Given the description of an element on the screen output the (x, y) to click on. 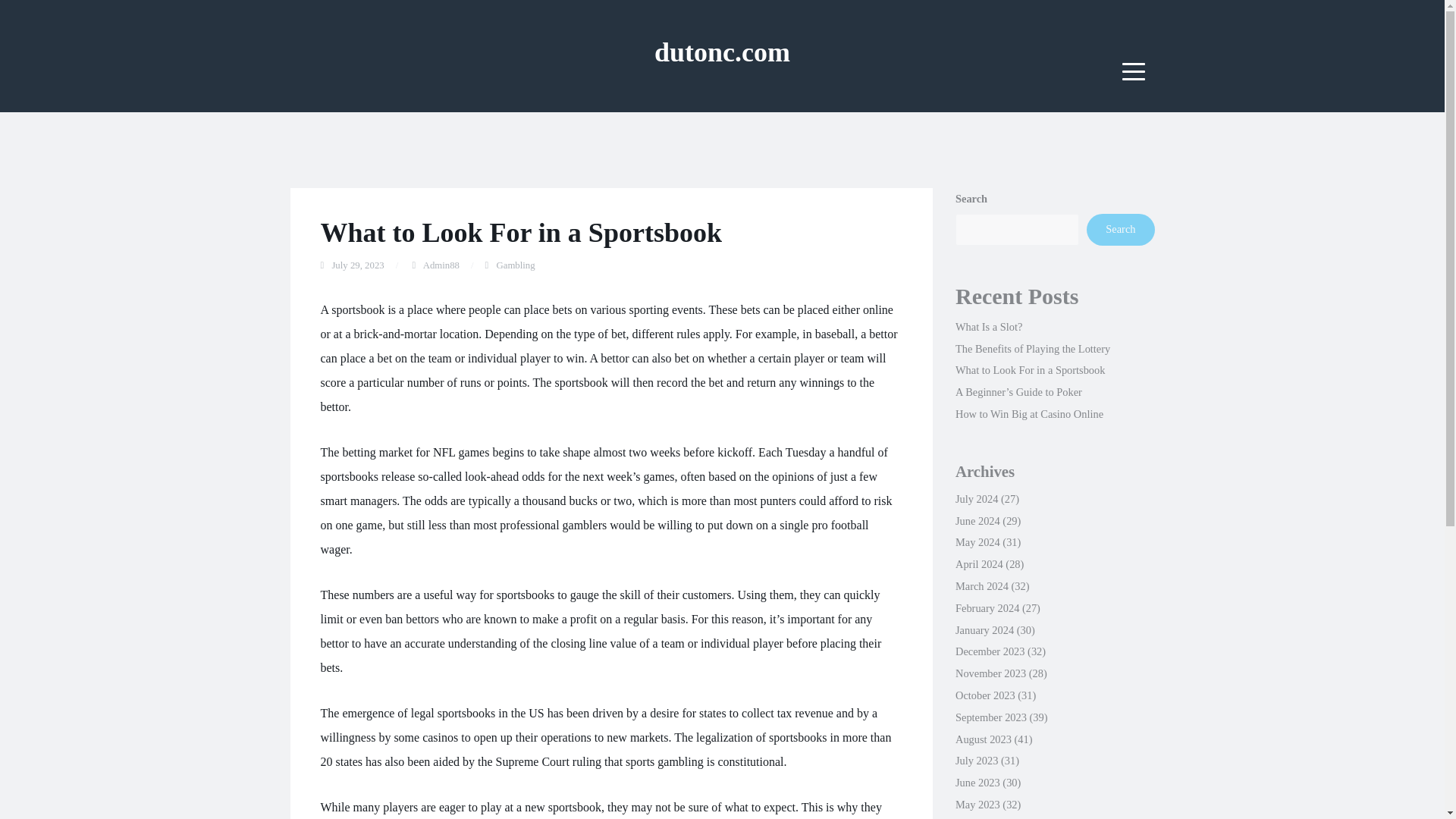
May 2024 (977, 541)
January 2024 (984, 630)
August 2023 (983, 739)
June 2023 (977, 782)
June 2024 (977, 521)
July 2024 (976, 499)
Menu (1133, 71)
October 2023 (984, 695)
December 2023 (990, 651)
How to Win Big at Casino Online (1029, 413)
The Benefits of Playing the Lottery (1032, 348)
July 2023 (976, 760)
November 2023 (990, 673)
Admin88 (441, 265)
March 2024 (982, 585)
